Given the description of an element on the screen output the (x, y) to click on. 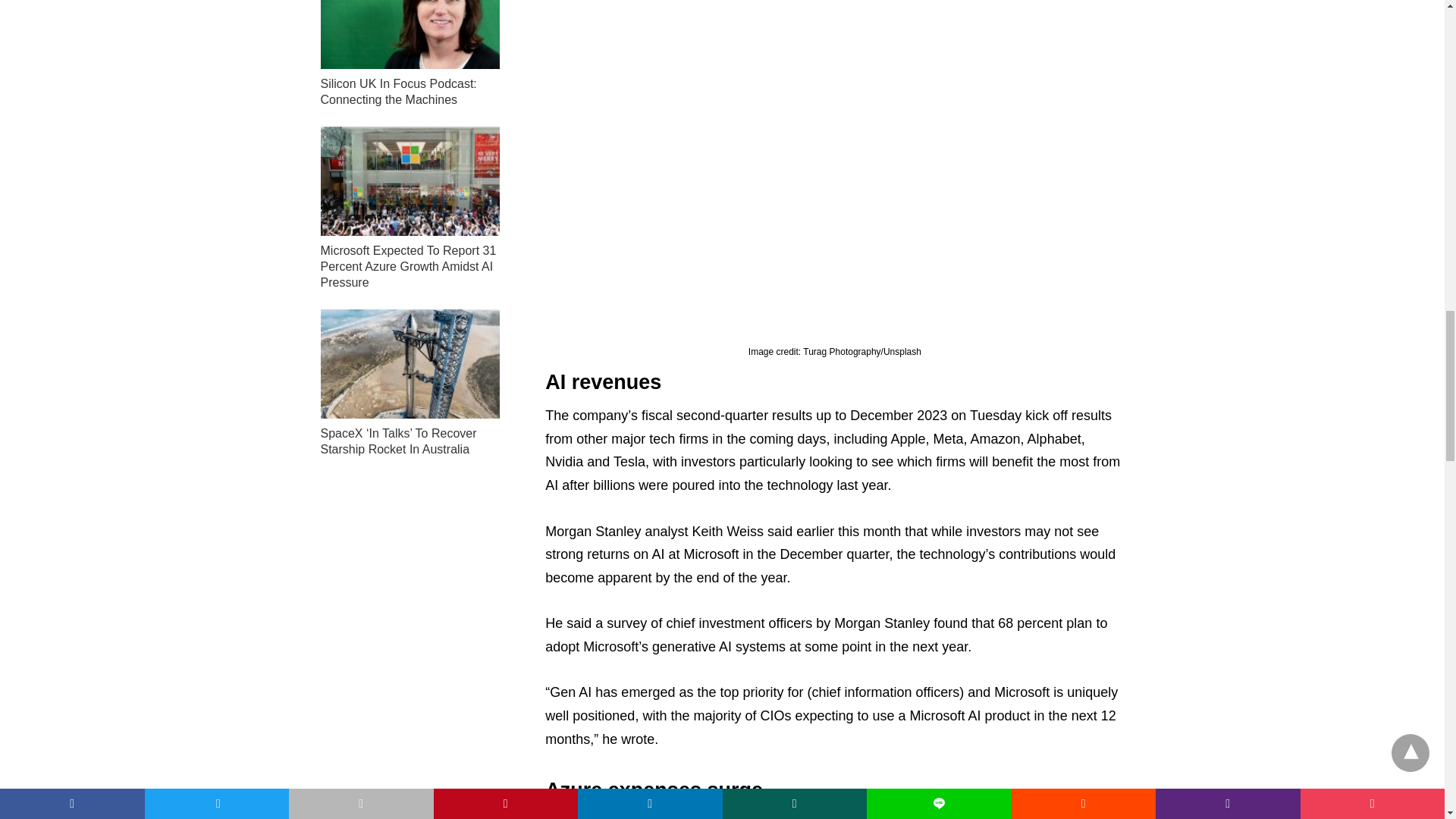
Silicon UK In Focus Podcast: Connecting the Machines (398, 91)
Silicon UK In Focus Podcast: Connecting the Machines (409, 34)
